Given the description of an element on the screen output the (x, y) to click on. 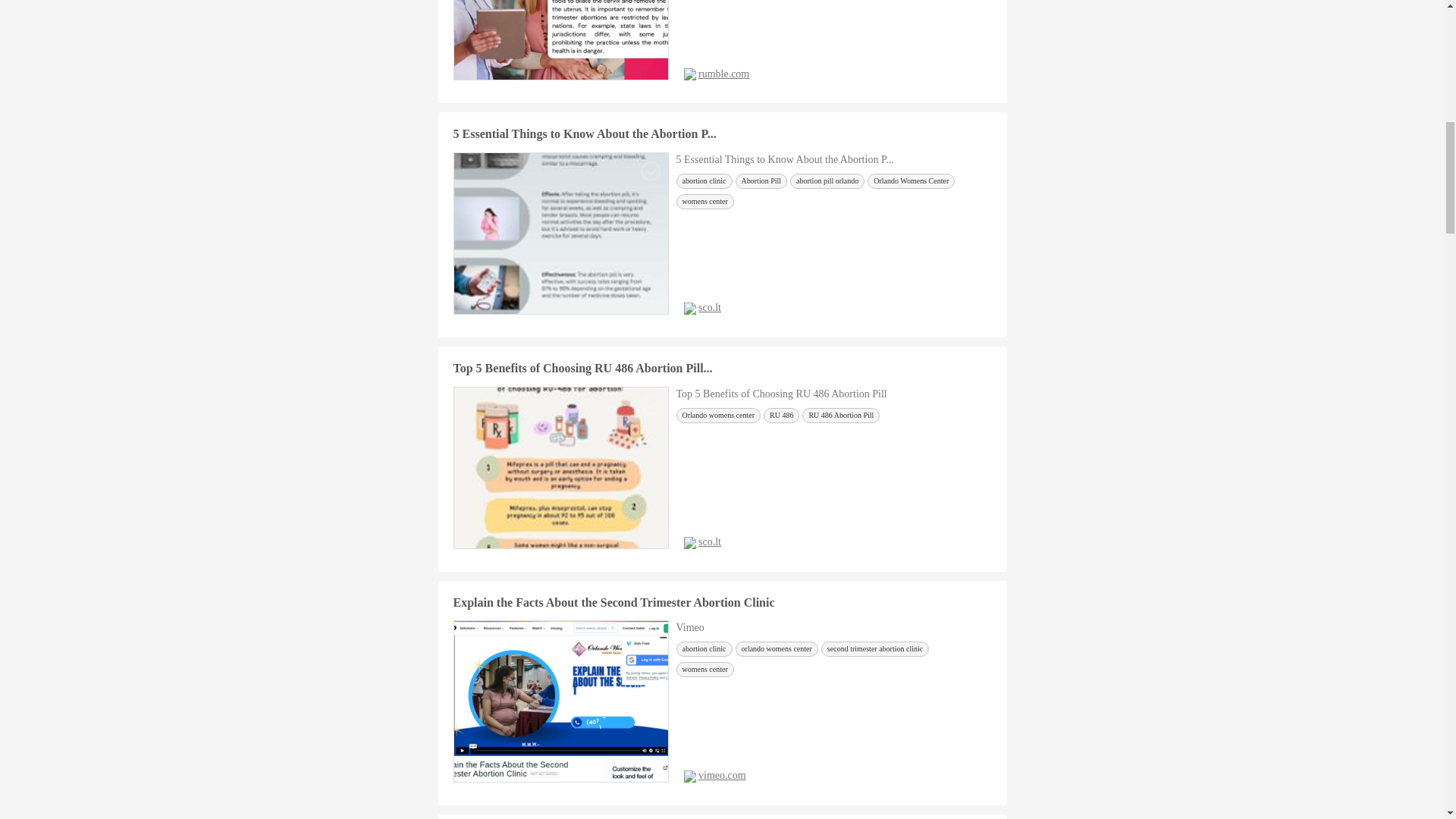
orlando womens center (776, 648)
womens center (705, 201)
5 Essential Things to Know About the Abortion P... (584, 133)
abortion clinic (704, 181)
Top 5 Benefits of Choosing RU 486 Abortion Pill... (582, 367)
Orlando womens center (719, 415)
second trimester abortion clinic (874, 648)
sco.lt (709, 307)
Abortion Pill (761, 181)
abortion pill orlando (827, 181)
RU 486 (780, 415)
rumble.com (723, 73)
RU 486 Abortion Pill (840, 415)
abortion clinic (704, 648)
Orlando Womens Center (911, 181)
